Given the description of an element on the screen output the (x, y) to click on. 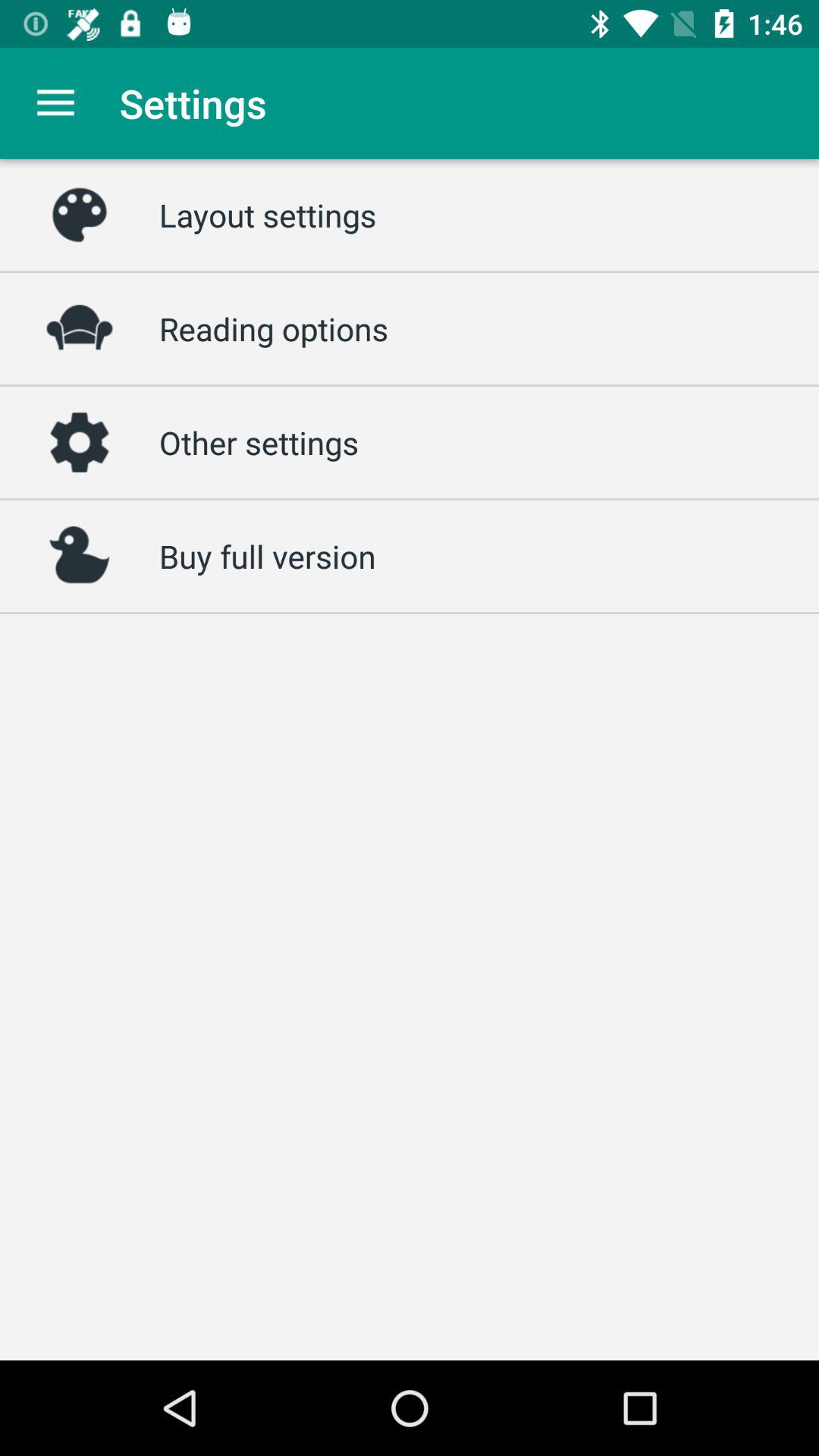
swipe until layout settings (267, 214)
